Given the description of an element on the screen output the (x, y) to click on. 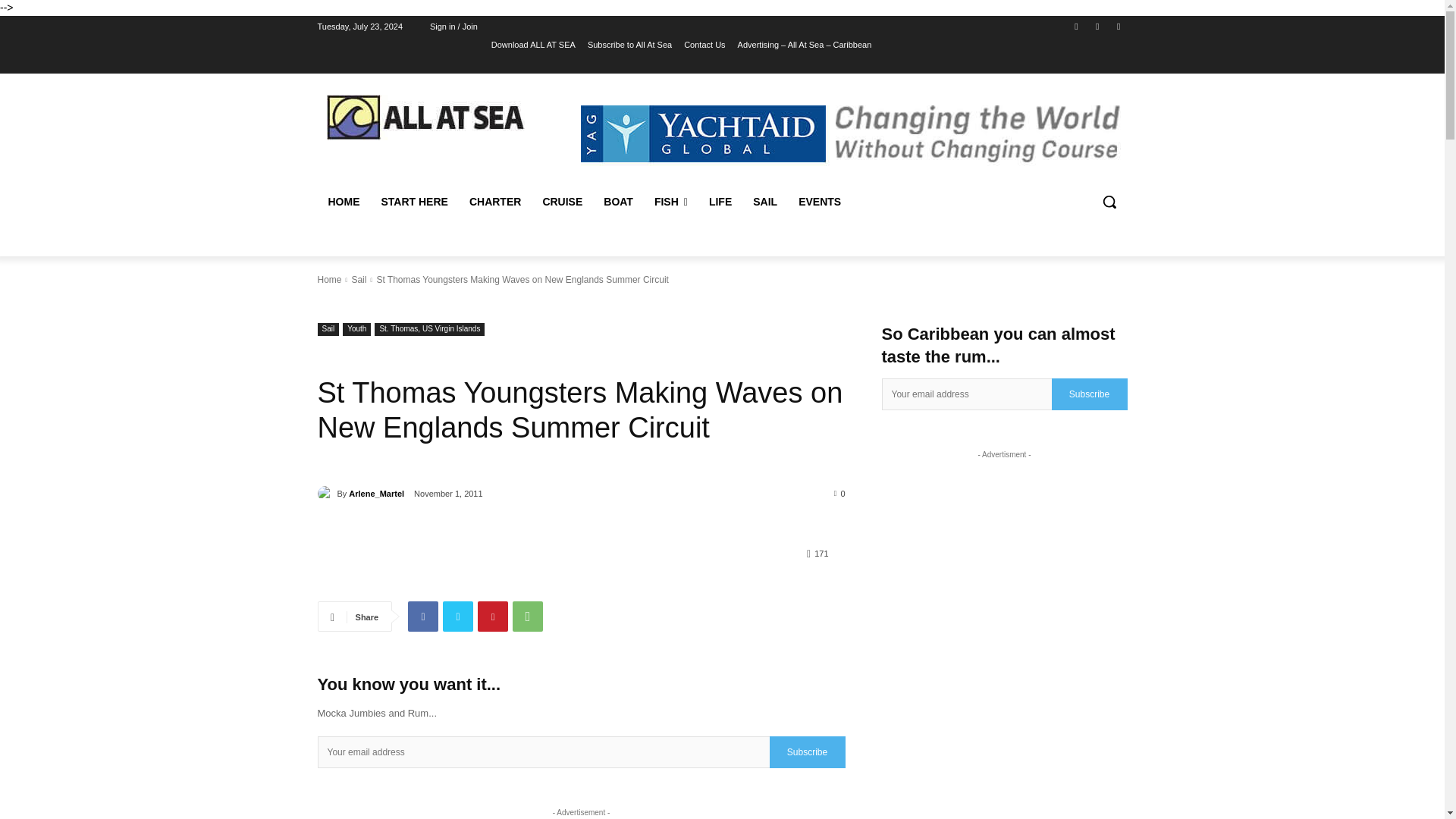
Pinterest (492, 616)
Twitter (1117, 27)
START HERE (413, 201)
Facebook (1075, 27)
LIFE (720, 201)
BOAT (617, 201)
Download ALL AT SEA (533, 44)
View all posts in Sail (358, 279)
EVENTS (819, 201)
HOME (343, 201)
CRUISE (561, 201)
FISH (670, 201)
Instagram (1097, 27)
Contact Us (704, 44)
SAIL (764, 201)
